Given the description of an element on the screen output the (x, y) to click on. 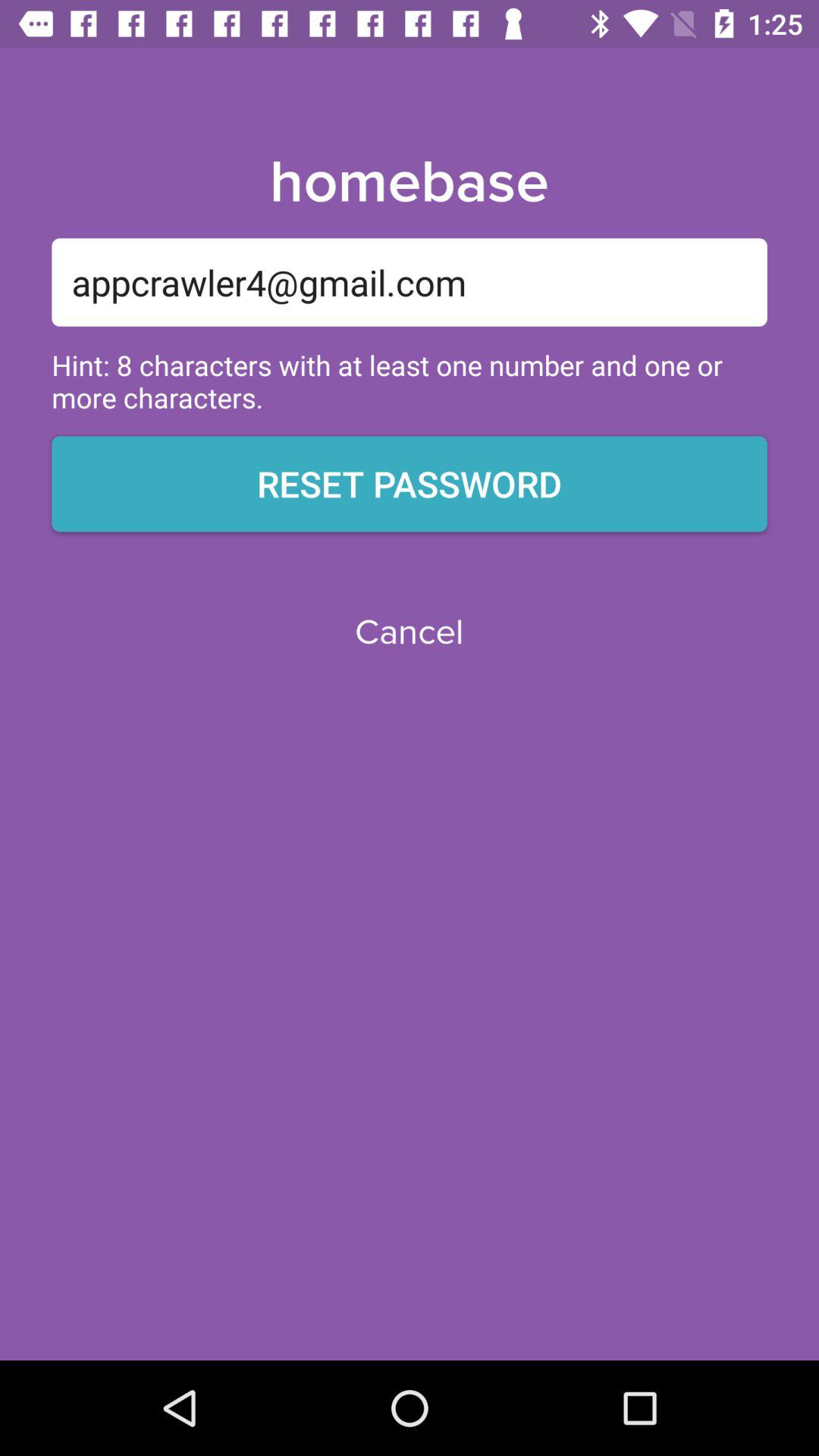
swipe to appcrawler4@gmail.com item (409, 282)
